Given the description of an element on the screen output the (x, y) to click on. 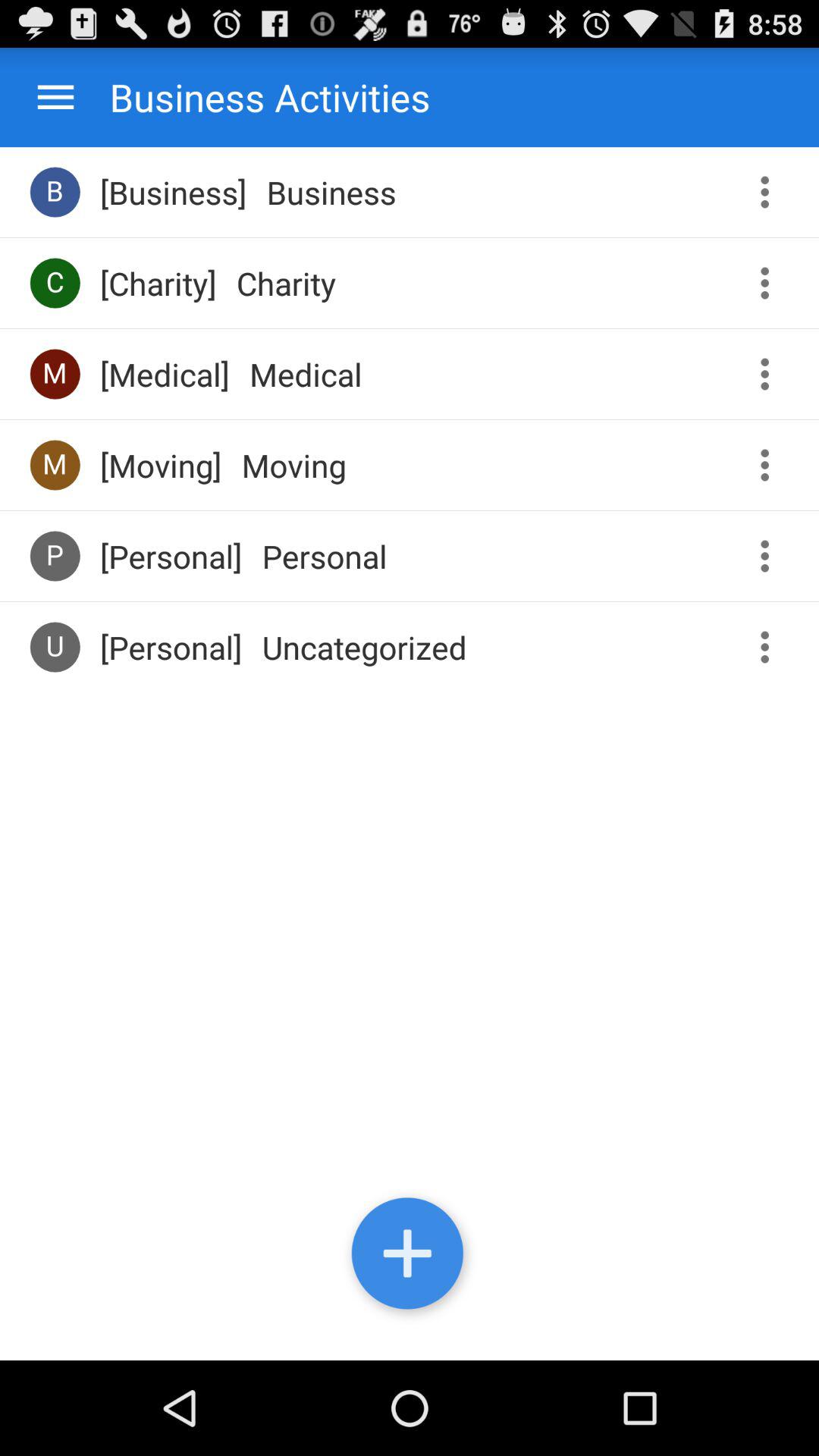
open options (770, 647)
